Given the description of an element on the screen output the (x, y) to click on. 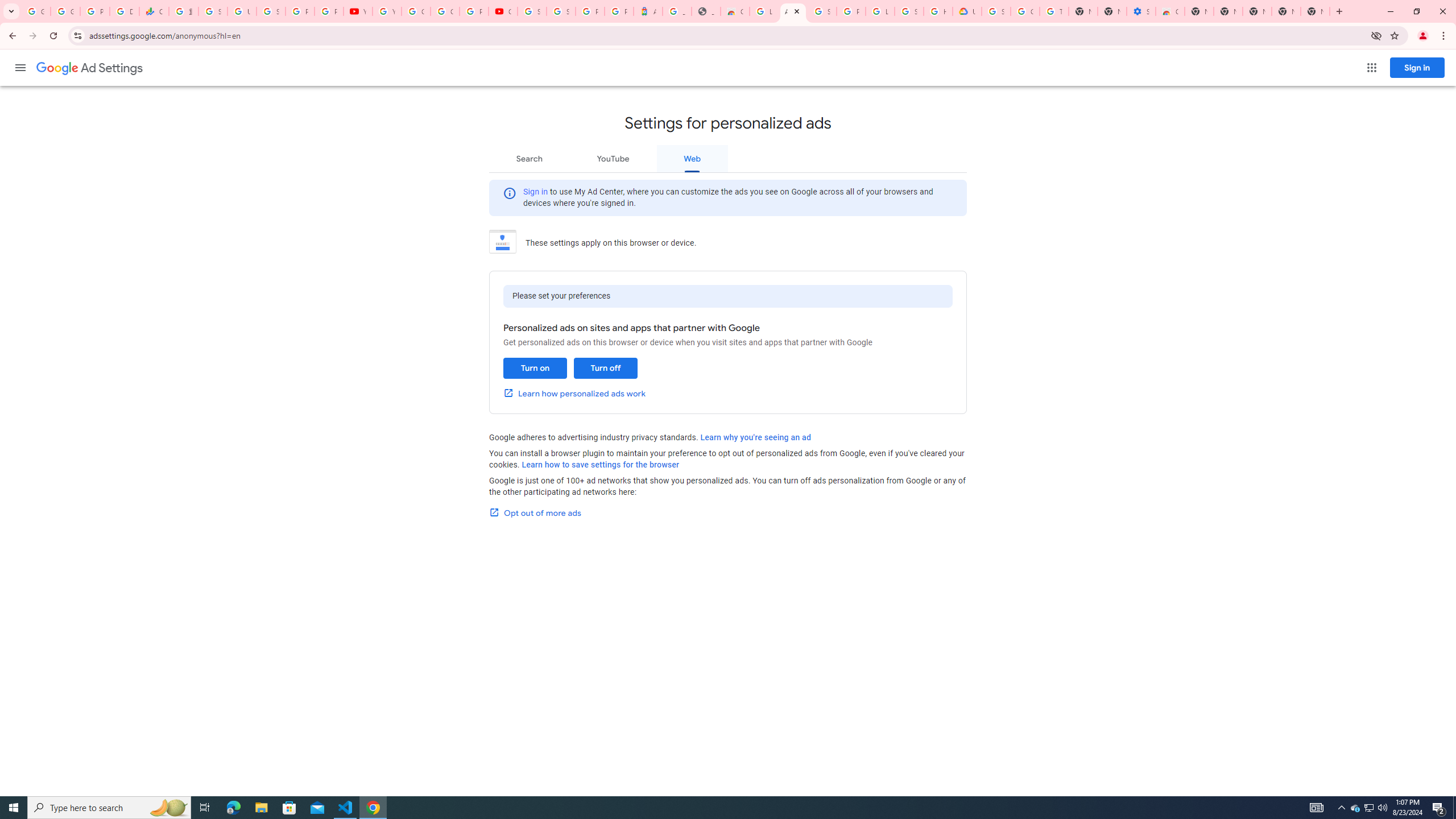
Google Account Help (415, 11)
Google Account Help (1025, 11)
Web (692, 157)
Main menu (20, 67)
Third-party cookies blocked (1376, 35)
New Tab (1315, 11)
Sign in - Google Accounts (996, 11)
YouTube (357, 11)
Ad Settings (89, 68)
